Given the description of an element on the screen output the (x, y) to click on. 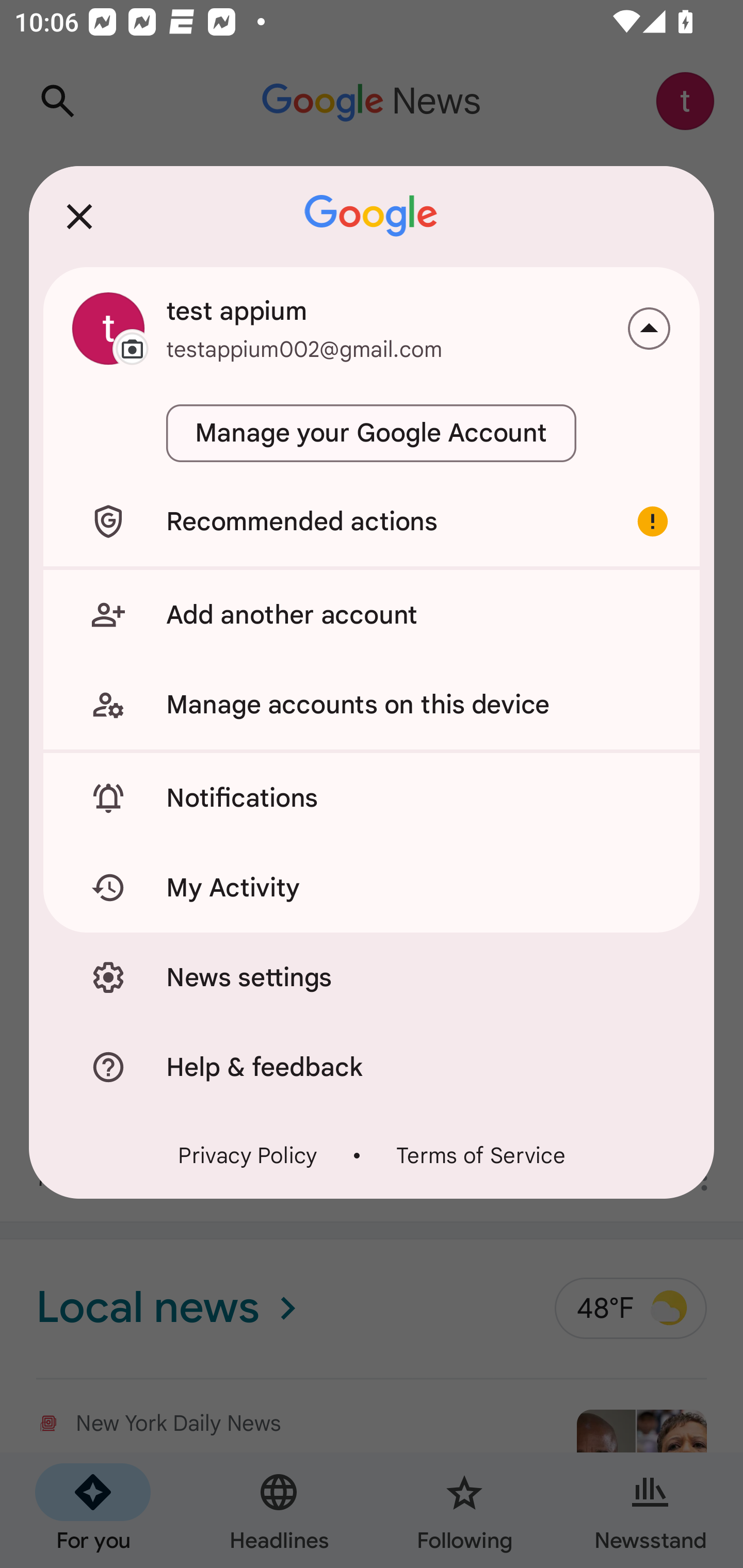
Close (79, 216)
Change profile picture. (108, 328)
Manage your Google Account (371, 433)
Recommended actions Important account alert (371, 521)
Add another account (371, 614)
Manage accounts on this device (371, 704)
Notifications (371, 797)
My Activity (371, 887)
News settings (371, 977)
Help & feedback (371, 1066)
Privacy Policy (247, 1154)
Terms of Service (479, 1154)
